Given the description of an element on the screen output the (x, y) to click on. 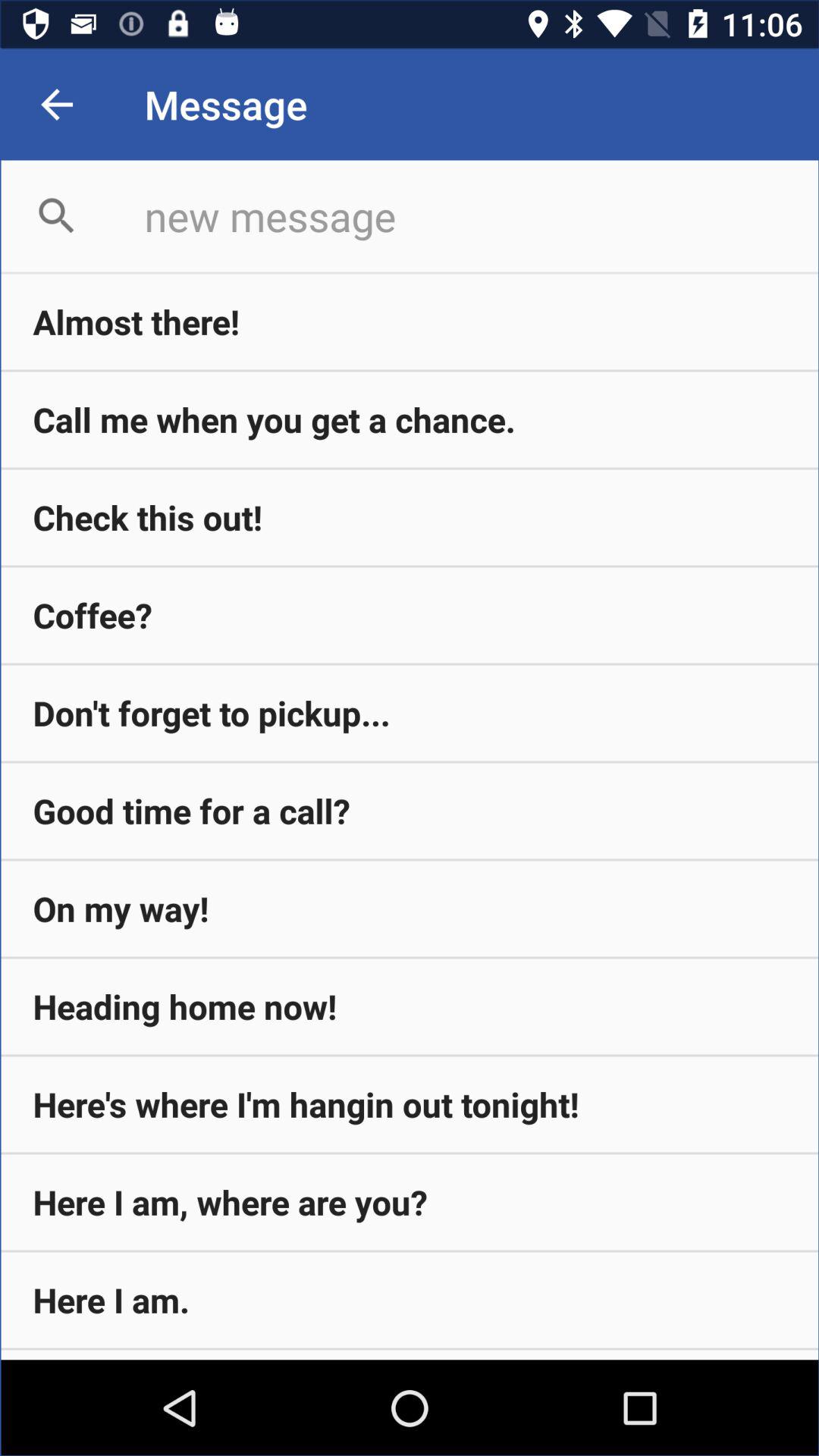
select item above the here i am (409, 1104)
